Given the description of an element on the screen output the (x, y) to click on. 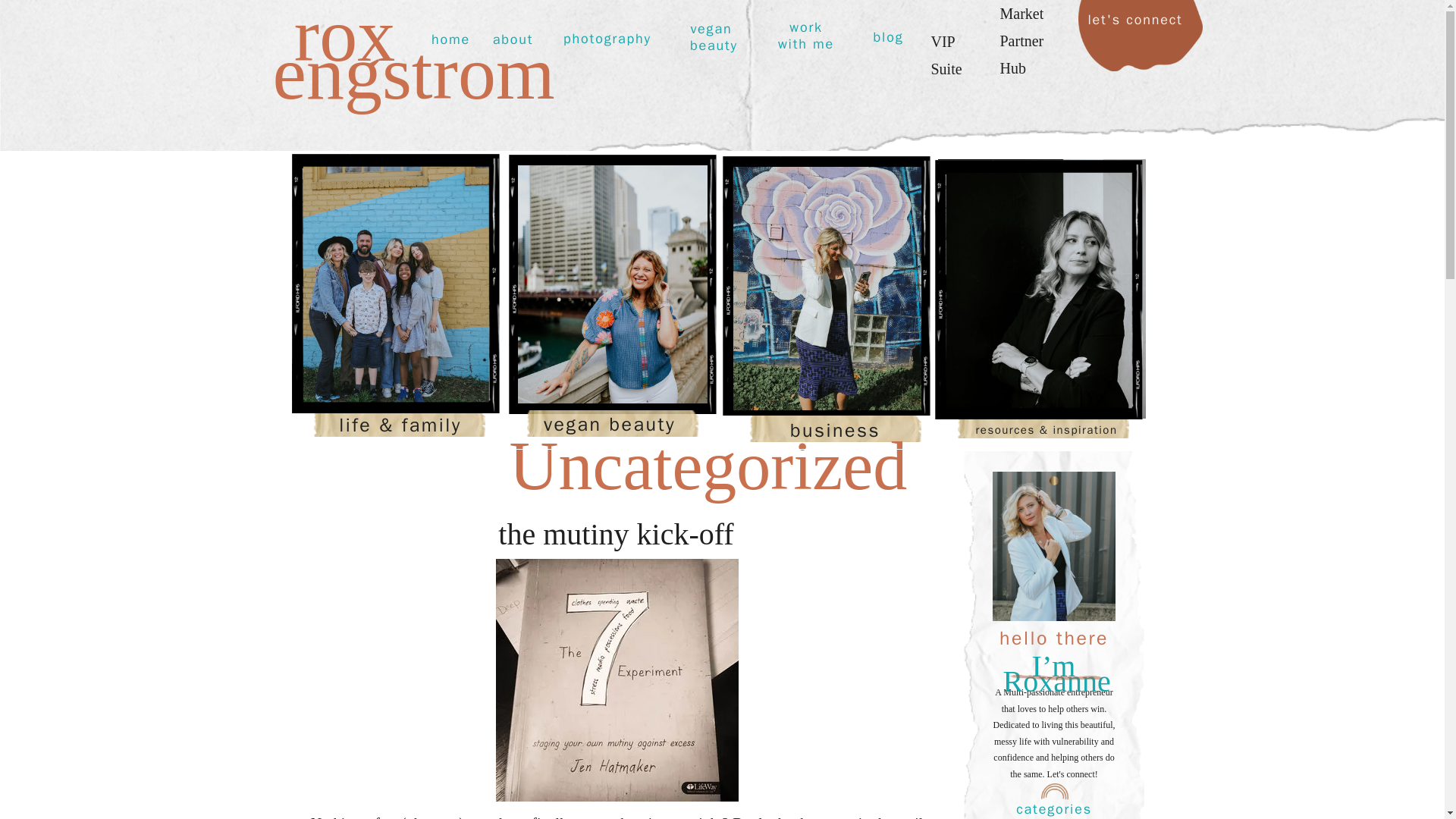
business (834, 430)
home (450, 39)
let's connect (1139, 29)
about (513, 39)
photo by rengstrom, on Flickr (617, 795)
vegan beauty (608, 423)
blog (887, 37)
photography (606, 39)
Uncategorized (708, 465)
vegan  beauty (713, 38)
Market Partner Hub (1032, 33)
VIP Suite (956, 36)
